Given the description of an element on the screen output the (x, y) to click on. 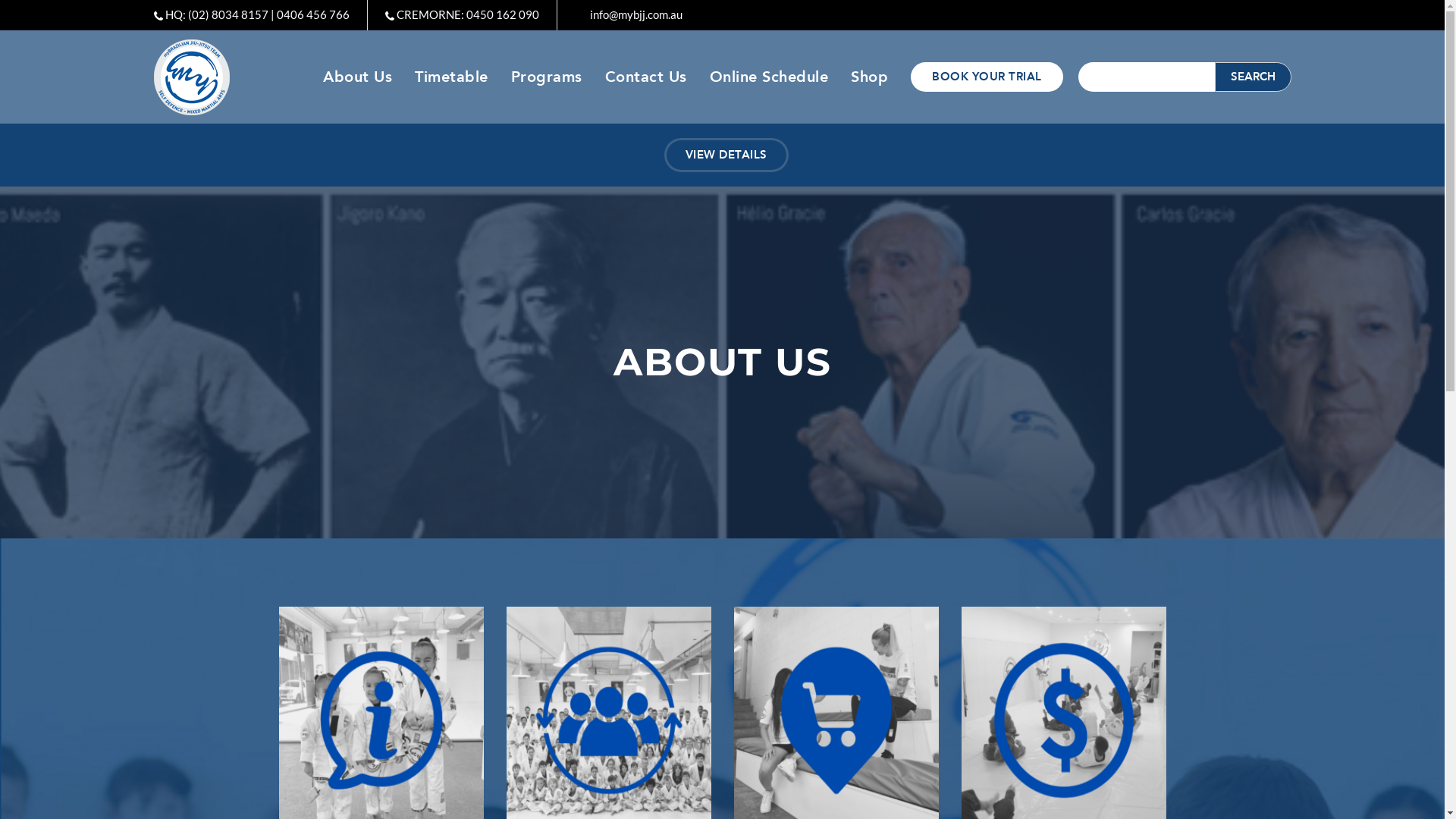
VIEW DETAILS Element type: text (725, 154)
info@mybjj.com.au Element type: text (635, 14)
HQ: (02) 8034 8157 | Element type: text (219, 14)
Programs Element type: text (546, 76)
CREMORNE: 0450 162 090 Element type: text (466, 14)
Contact Us Element type: text (646, 76)
BOOK YOUR TRIAL Element type: text (986, 76)
0406 456 766 Element type: text (312, 14)
Search Element type: text (1252, 76)
Online Schedule Element type: text (768, 76)
Shop Element type: text (869, 76)
About Us Element type: text (357, 76)
Timetable Element type: text (451, 76)
